Given the description of an element on the screen output the (x, y) to click on. 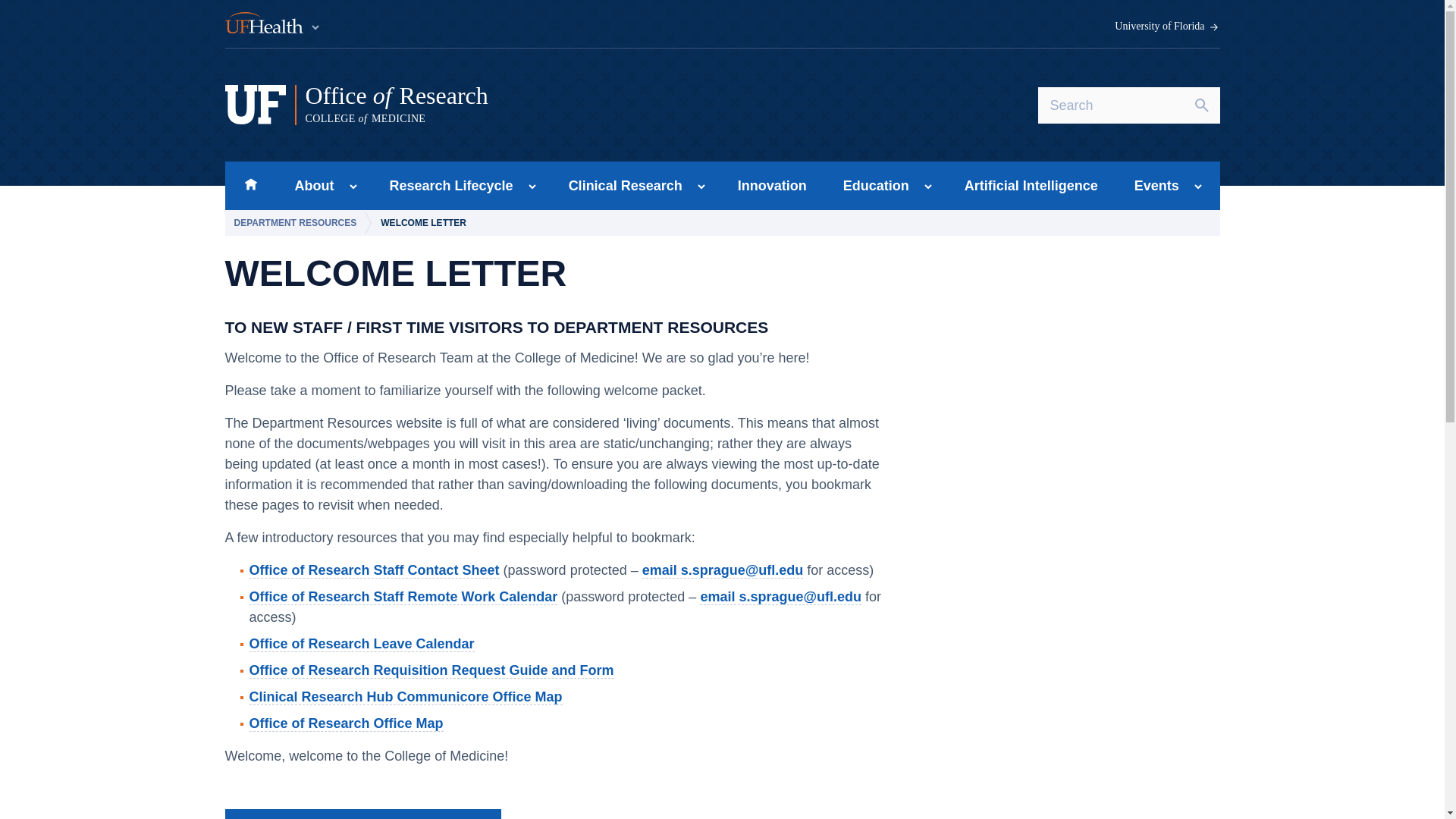
University of Florida (1167, 26)
Clinical Research (620, 185)
Research Lifecycle (446, 185)
About (309, 185)
UF Health (515, 105)
Home (272, 24)
